Given the description of an element on the screen output the (x, y) to click on. 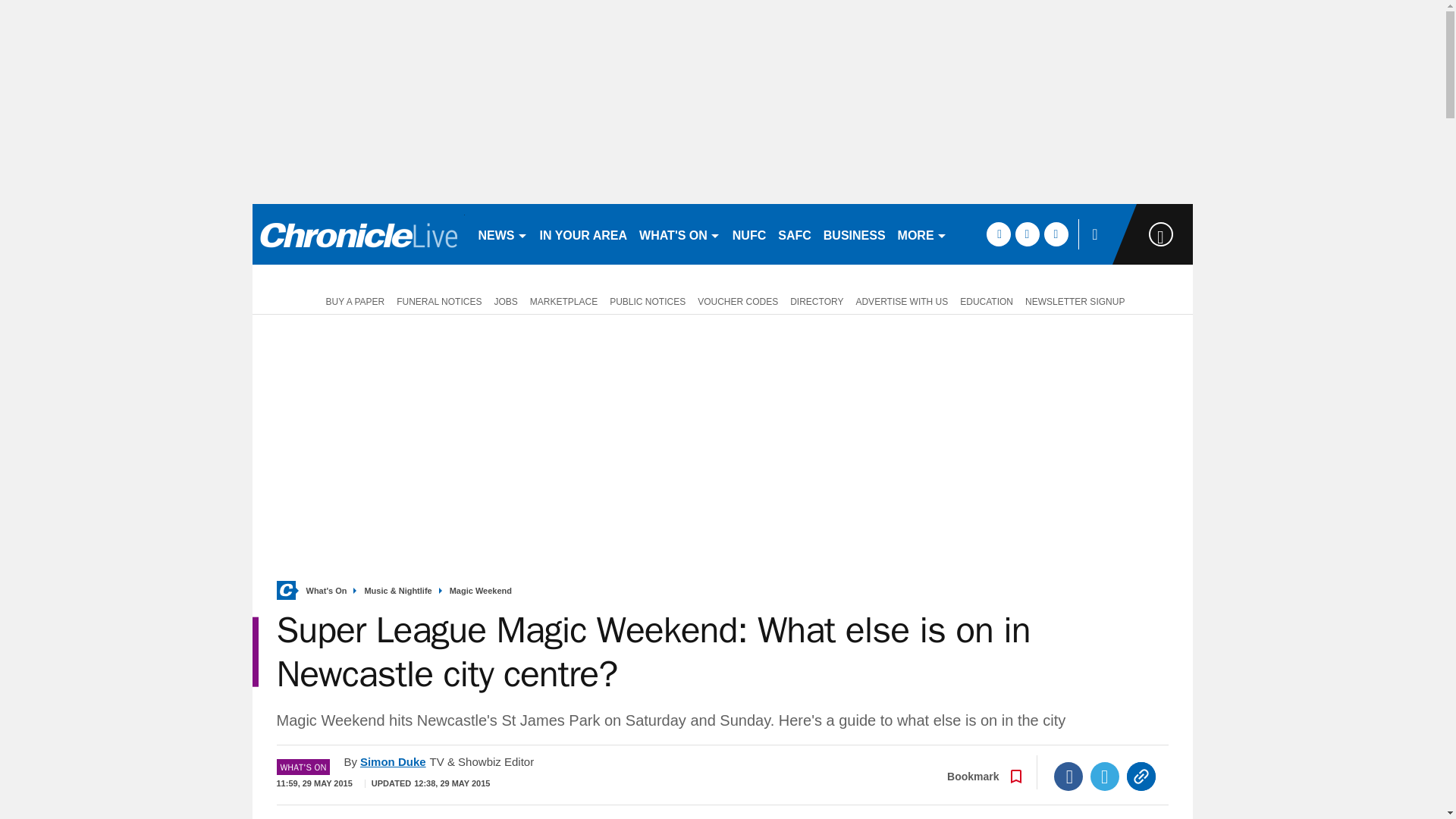
nechronicle (357, 233)
IN YOUR AREA (583, 233)
NEWS (501, 233)
Facebook (1068, 776)
twitter (1026, 233)
Twitter (1104, 776)
facebook (997, 233)
instagram (1055, 233)
WHAT'S ON (679, 233)
BUSINESS (853, 233)
